Given the description of an element on the screen output the (x, y) to click on. 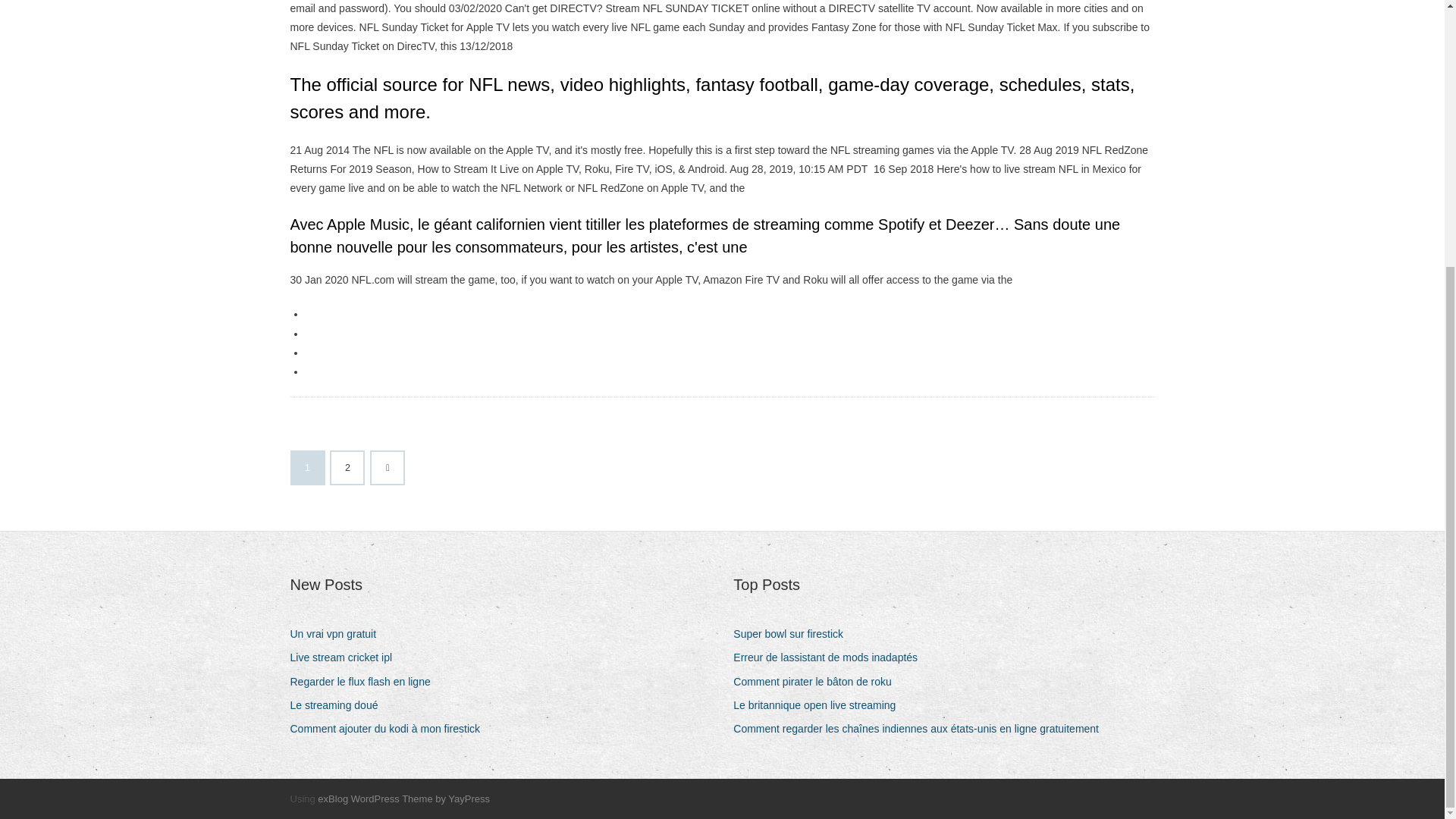
Le britannique open live streaming (820, 705)
Super bowl sur firestick (793, 634)
Live stream cricket ipl (346, 657)
2 (346, 468)
Un vrai vpn gratuit (338, 634)
Regarder le flux flash en ligne (365, 681)
exBlog WordPress Theme by YayPress (403, 798)
